Given the description of an element on the screen output the (x, y) to click on. 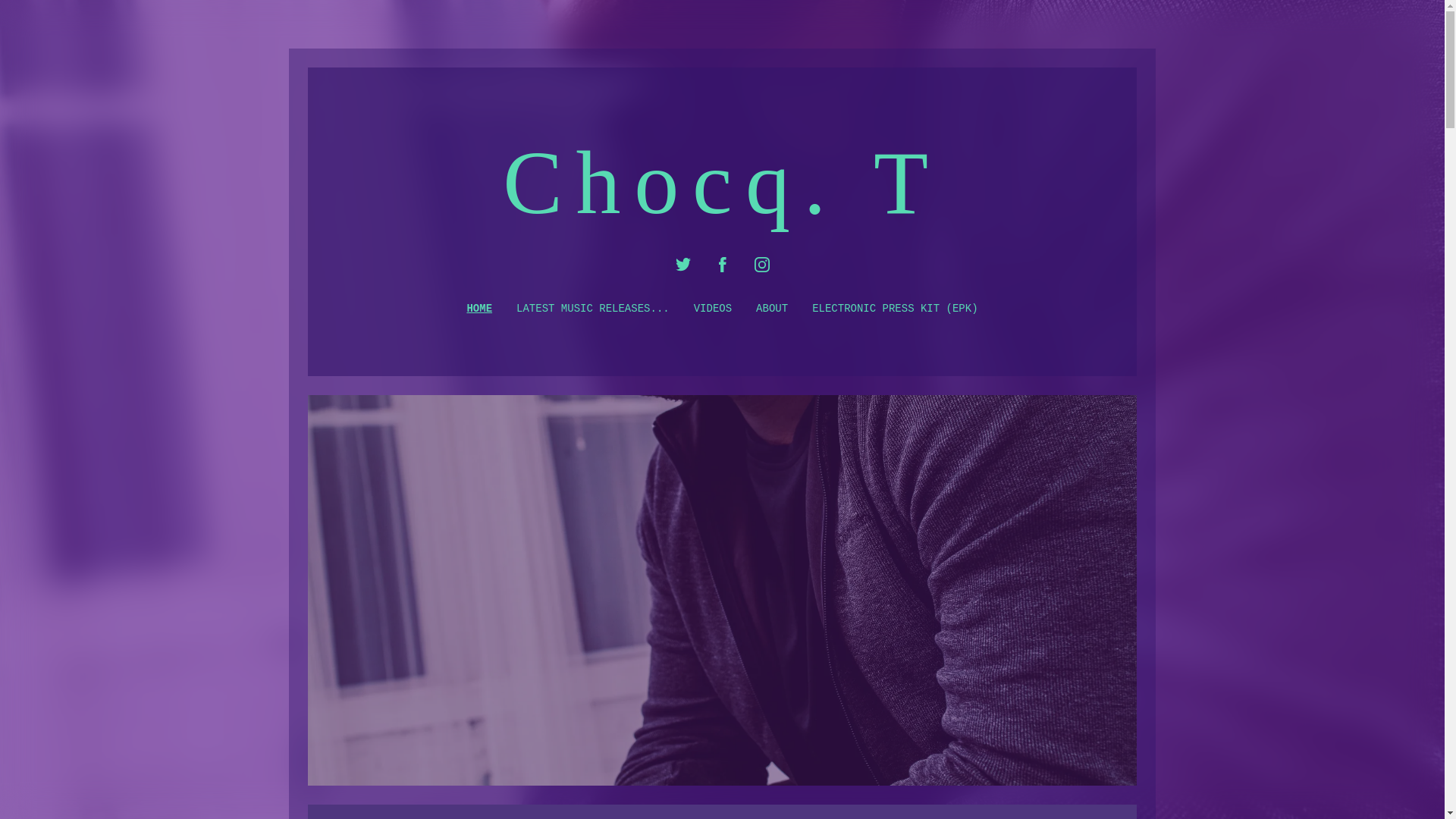
ABOUT (771, 308)
HOME (478, 308)
VIDEOS (713, 308)
Chocq. T (722, 208)
LATEST MUSIC RELEASES... (592, 308)
